Given the description of an element on the screen output the (x, y) to click on. 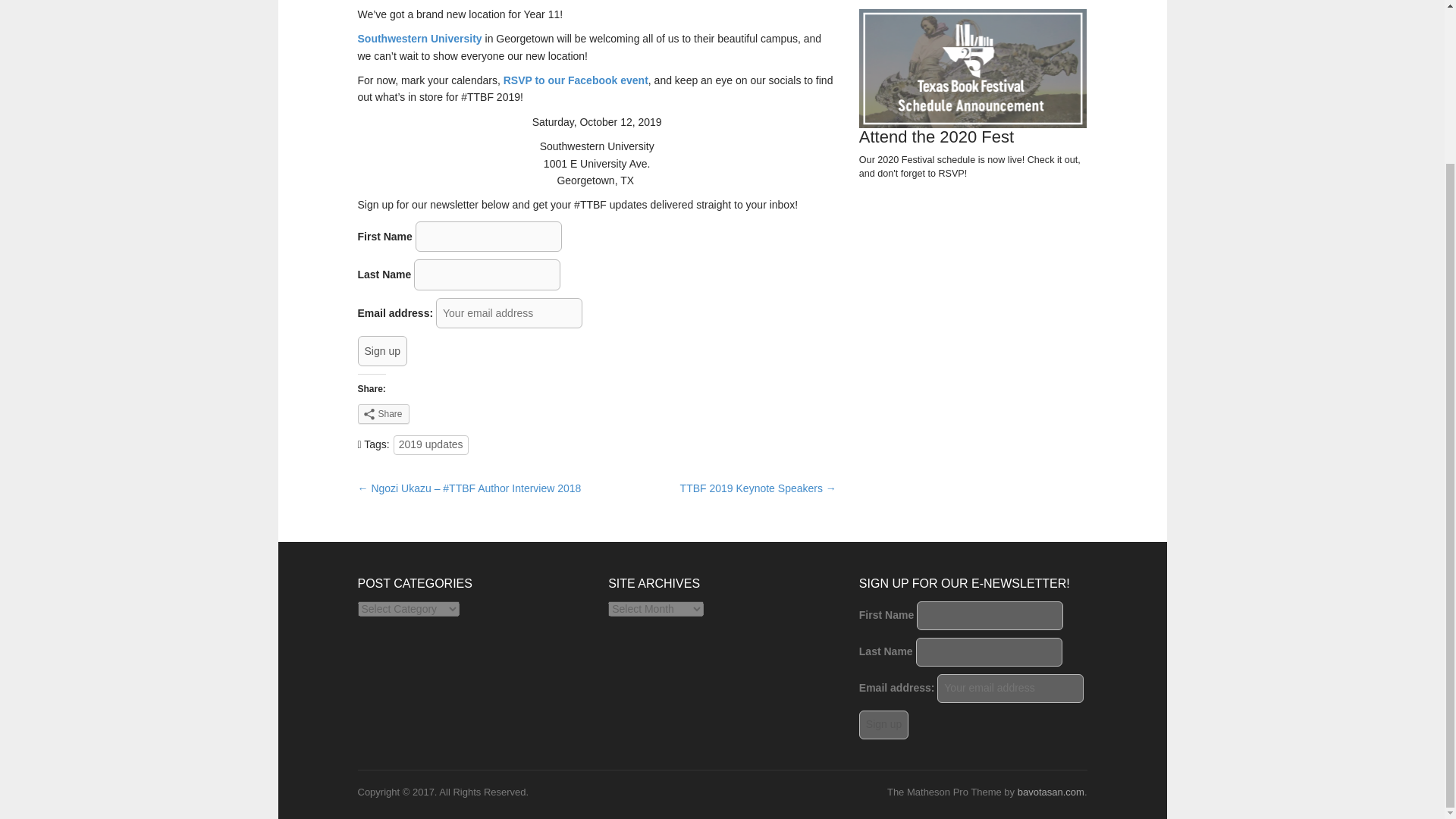
Sign up (382, 350)
Share (383, 414)
2019 updates (430, 444)
Sign up (883, 724)
Sign up (382, 350)
RSVP to our Facebook event (575, 80)
Southwestern University (419, 38)
